Given the description of an element on the screen output the (x, y) to click on. 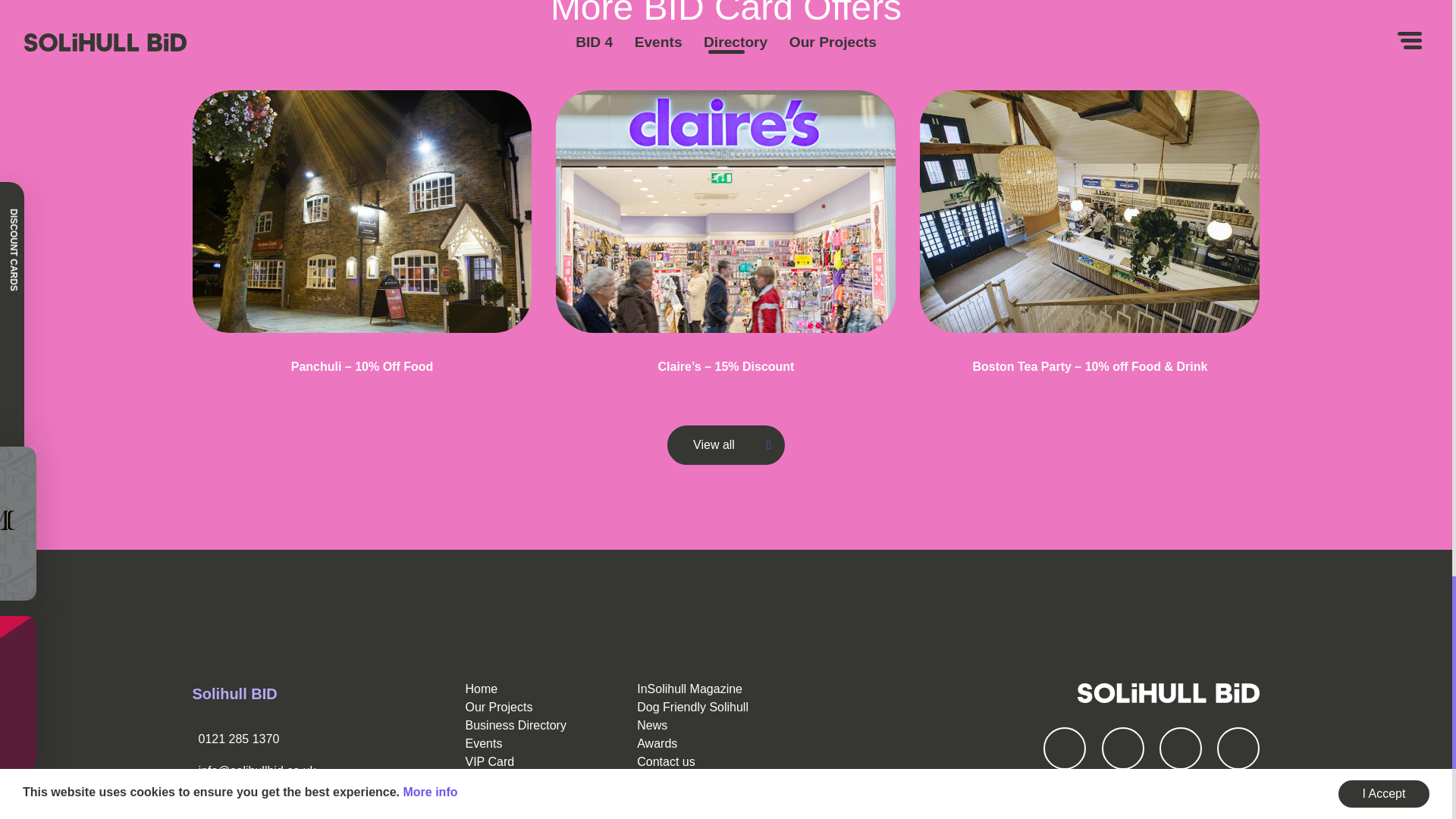
View all (725, 445)
0121 285 1370 (238, 738)
